Given the description of an element on the screen output the (x, y) to click on. 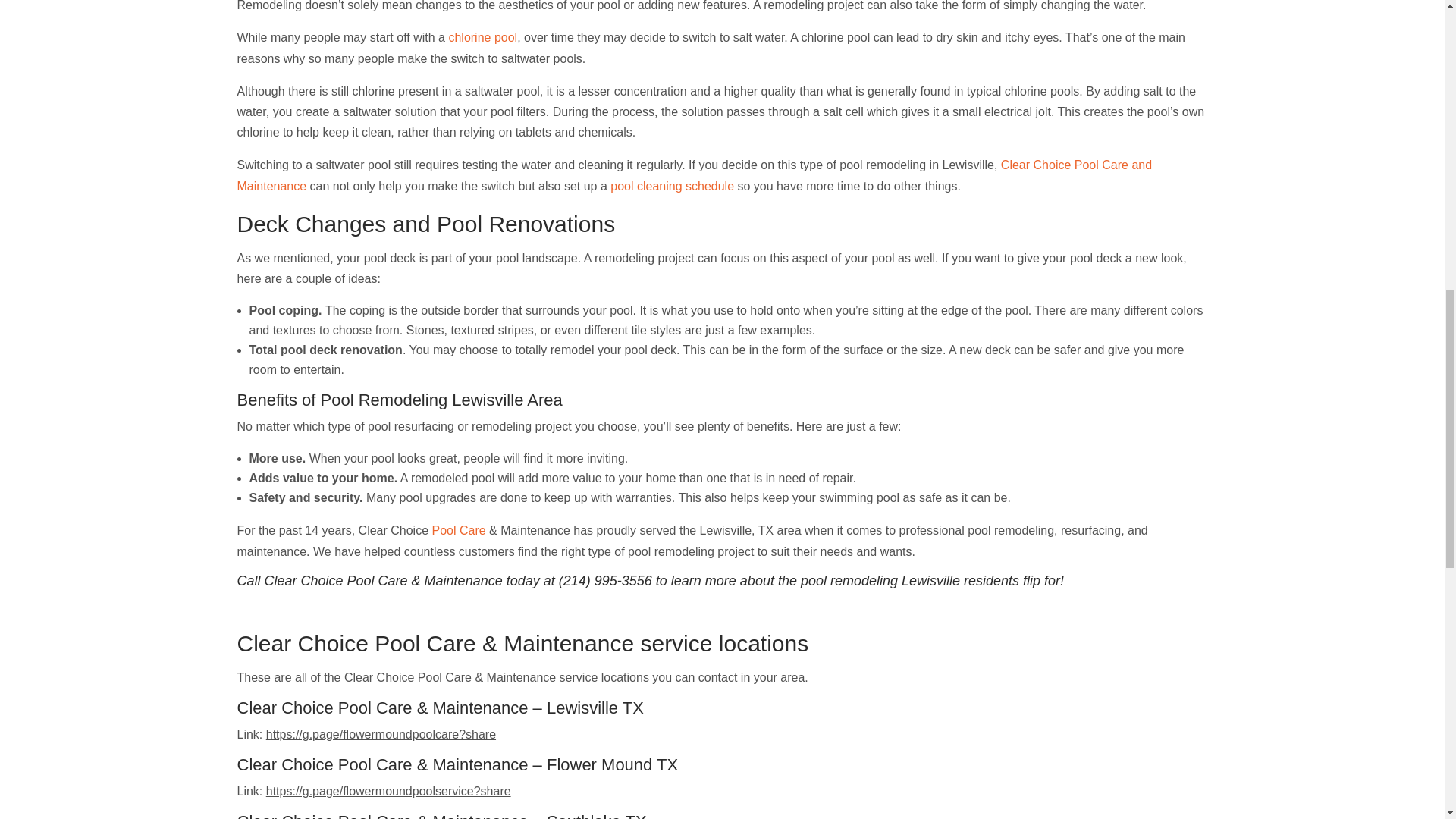
Pool Care (459, 530)
Clear Choice Pool Care (323, 707)
pool cleaning schedule (671, 185)
Clear Choice Pool Care and Maintenance (693, 174)
chlorine pool (482, 37)
